Given the description of an element on the screen output the (x, y) to click on. 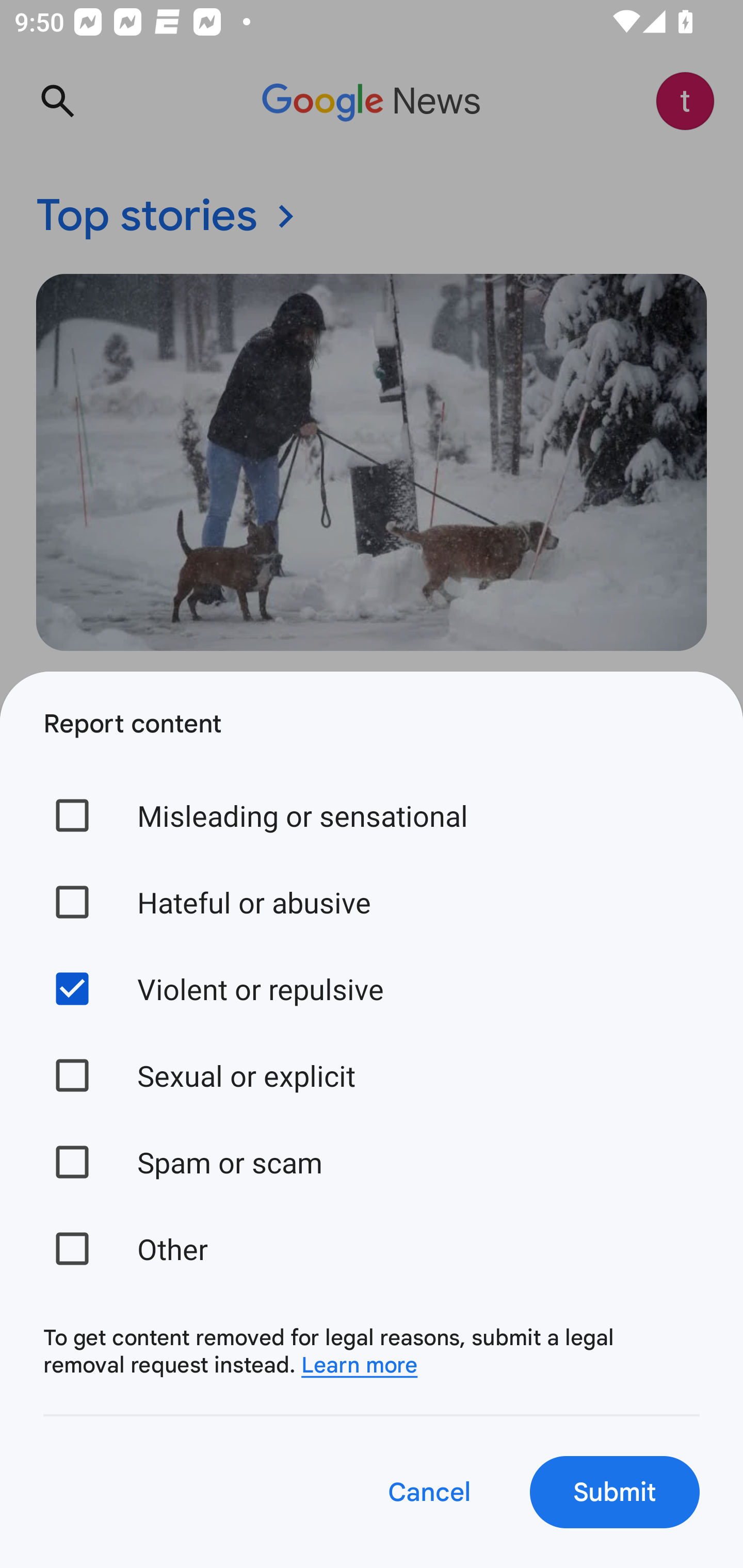
Misleading or sensational (371, 815)
Hateful or abusive (371, 902)
Violent or repulsive (371, 988)
Sexual or explicit (371, 1074)
Spam or scam (371, 1161)
Other (371, 1248)
Cancel (428, 1491)
Submit (614, 1491)
